Given the description of an element on the screen output the (x, y) to click on. 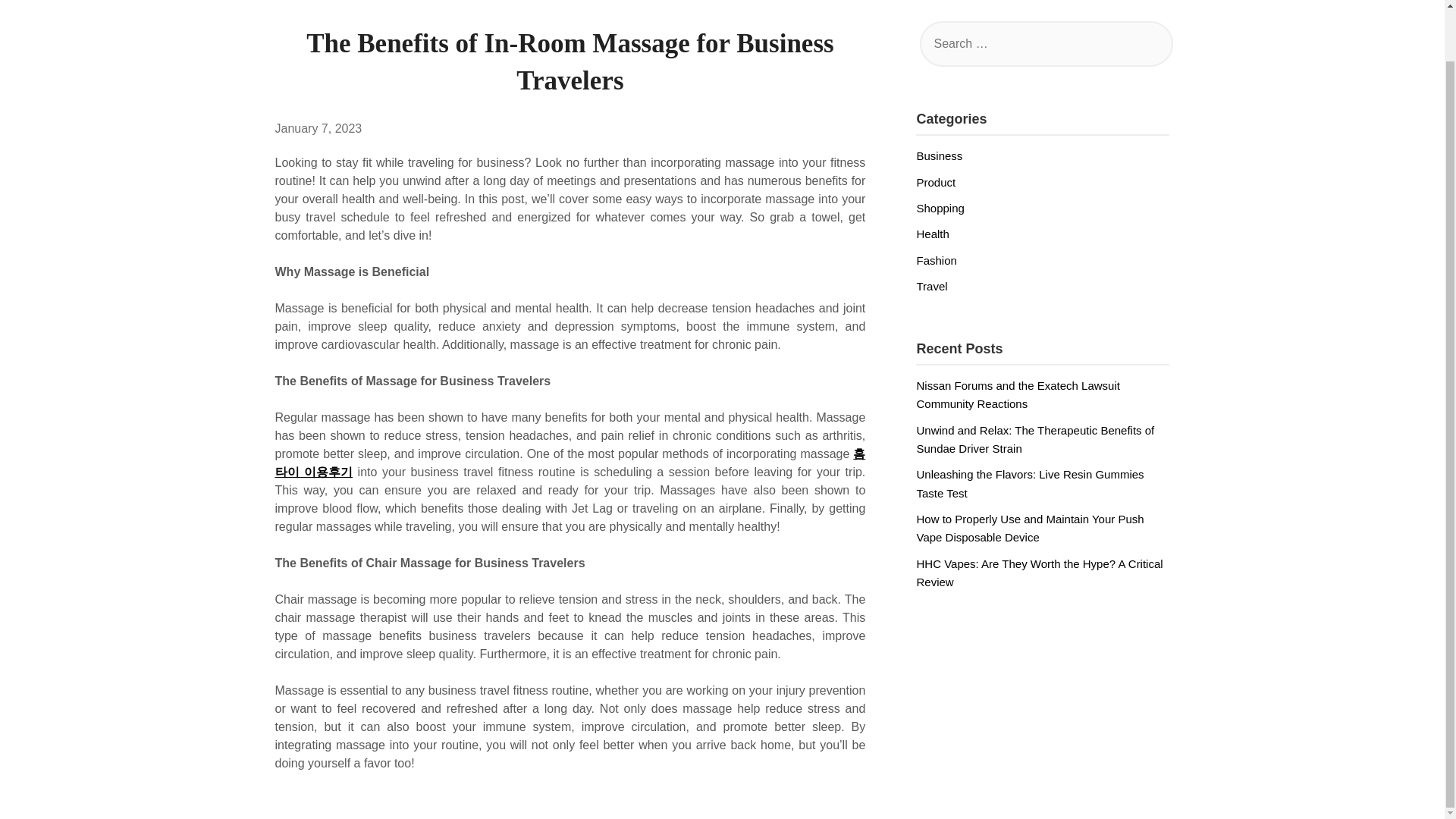
Business (938, 155)
Travel (931, 286)
Nissan Forums and the Exatech Lawsuit Community Reactions (1017, 394)
January 7, 2023 (318, 128)
Fashion (935, 259)
Product (935, 182)
Unleashing the Flavors: Live Resin Gummies Taste Test (1028, 482)
HHC Vapes: Are They Worth the Hype? A Critical Review (1038, 572)
Health (932, 233)
Shopping (939, 207)
